Given the description of an element on the screen output the (x, y) to click on. 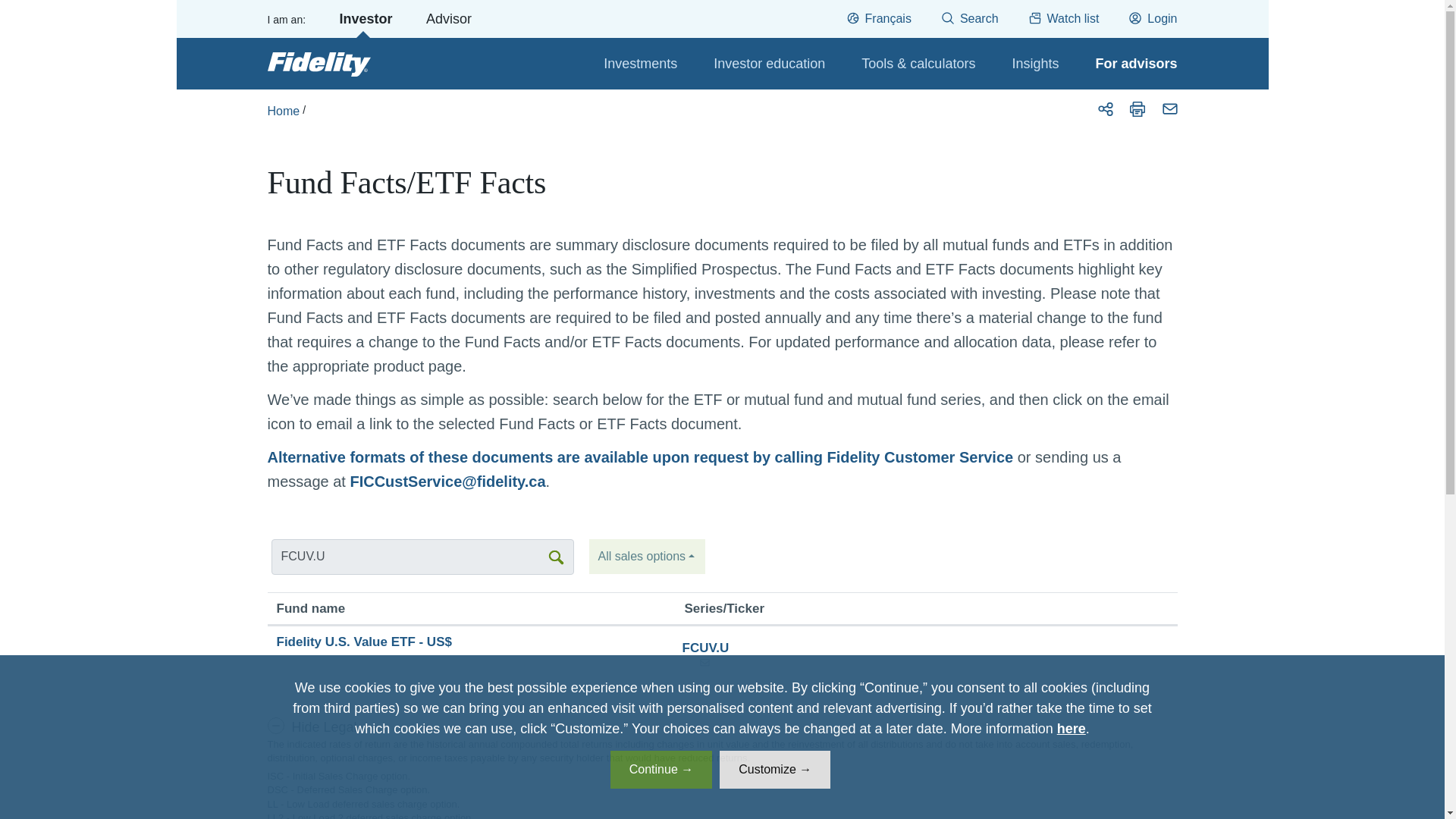
FCUV.U (422, 556)
Welcome to Fidelity Investments Canada (317, 63)
Login (1161, 18)
Search (978, 18)
Watch list (1072, 18)
All sales options (646, 556)
Login to fidelity.ca (1161, 18)
Investor (366, 17)
FCUV.U (422, 556)
Advisor (448, 17)
Fund name, Fund code, Ticker (422, 556)
